Given the description of an element on the screen output the (x, y) to click on. 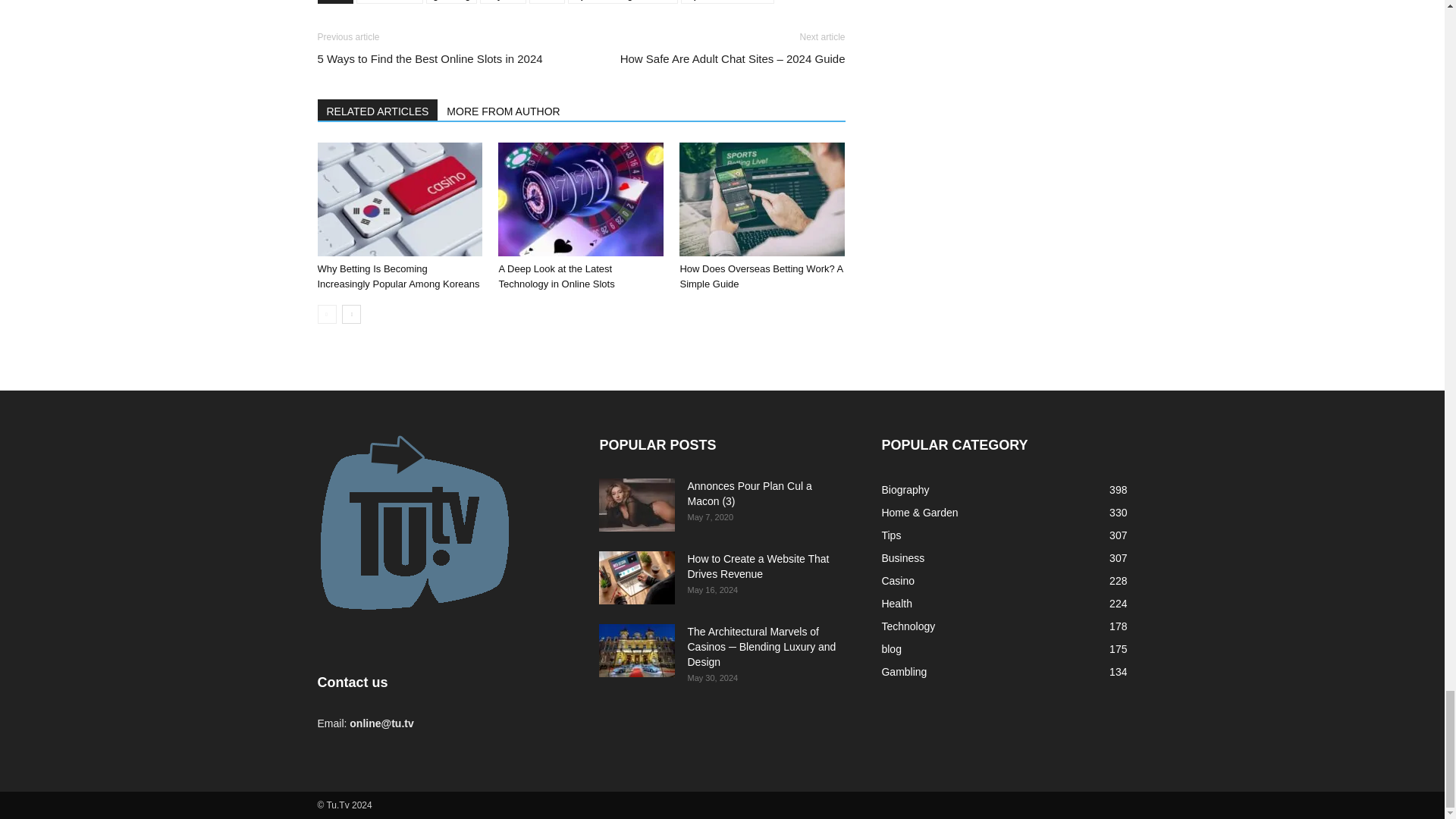
How Does Overseas Betting Work? A Simple Guide (761, 275)
A Deep Look at the Latest Technology in Online Slots (580, 199)
A Deep Look at the Latest Technology in Online Slots (555, 275)
How Does Overseas Betting Work? A Simple Guide (761, 199)
Why Betting Is Becoming Increasingly Popular Among Koreans (399, 199)
gambling (451, 2)
Why Betting Is Becoming Increasingly Popular Among Koreans (398, 275)
Fake Website (389, 2)
